Given the description of an element on the screen output the (x, y) to click on. 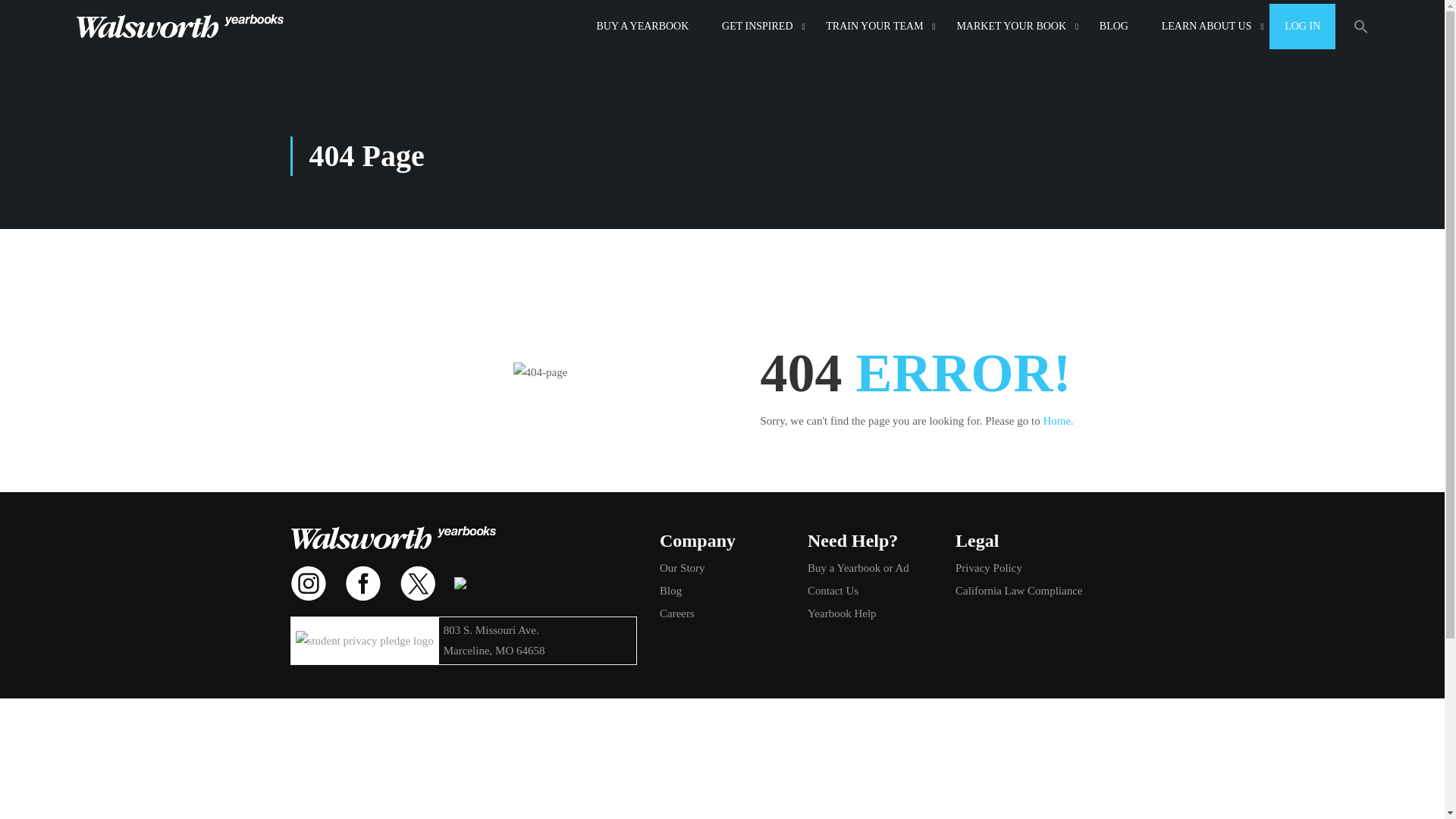
BUY A YEARBOOK (641, 26)
GET INSPIRED (757, 26)
Walsworth Yearbooks - Publisher of School Yearbooks (179, 25)
